Given the description of an element on the screen output the (x, y) to click on. 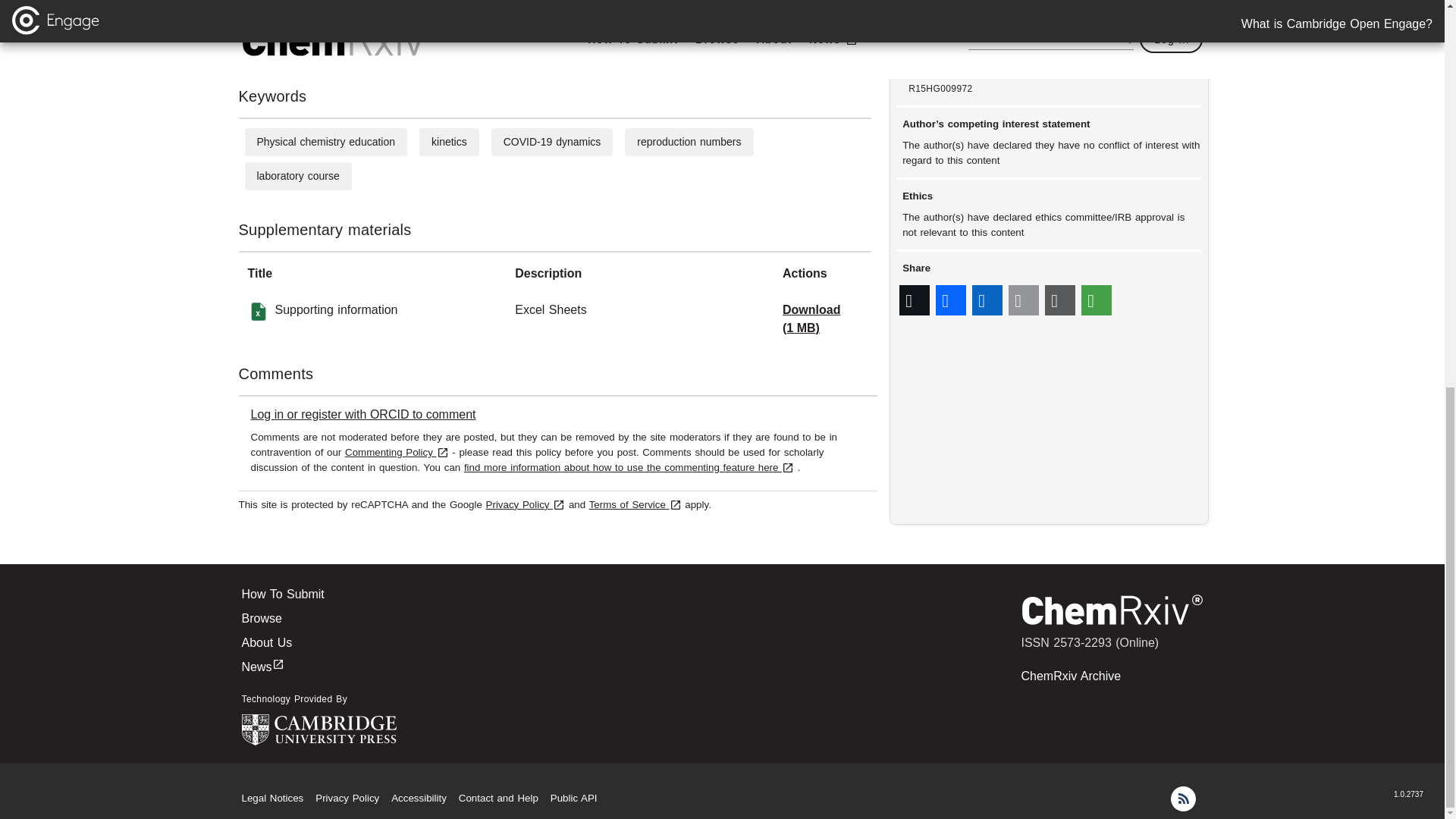
More Options (1096, 299)
LinkedIn (987, 299)
Email This (1024, 299)
kinetics (448, 141)
Print (1060, 299)
COVID-19 dynamics (552, 141)
reproduction numbers (689, 141)
Physical chemistry education (325, 141)
laboratory course (297, 175)
Facebook (951, 299)
